Given the description of an element on the screen output the (x, y) to click on. 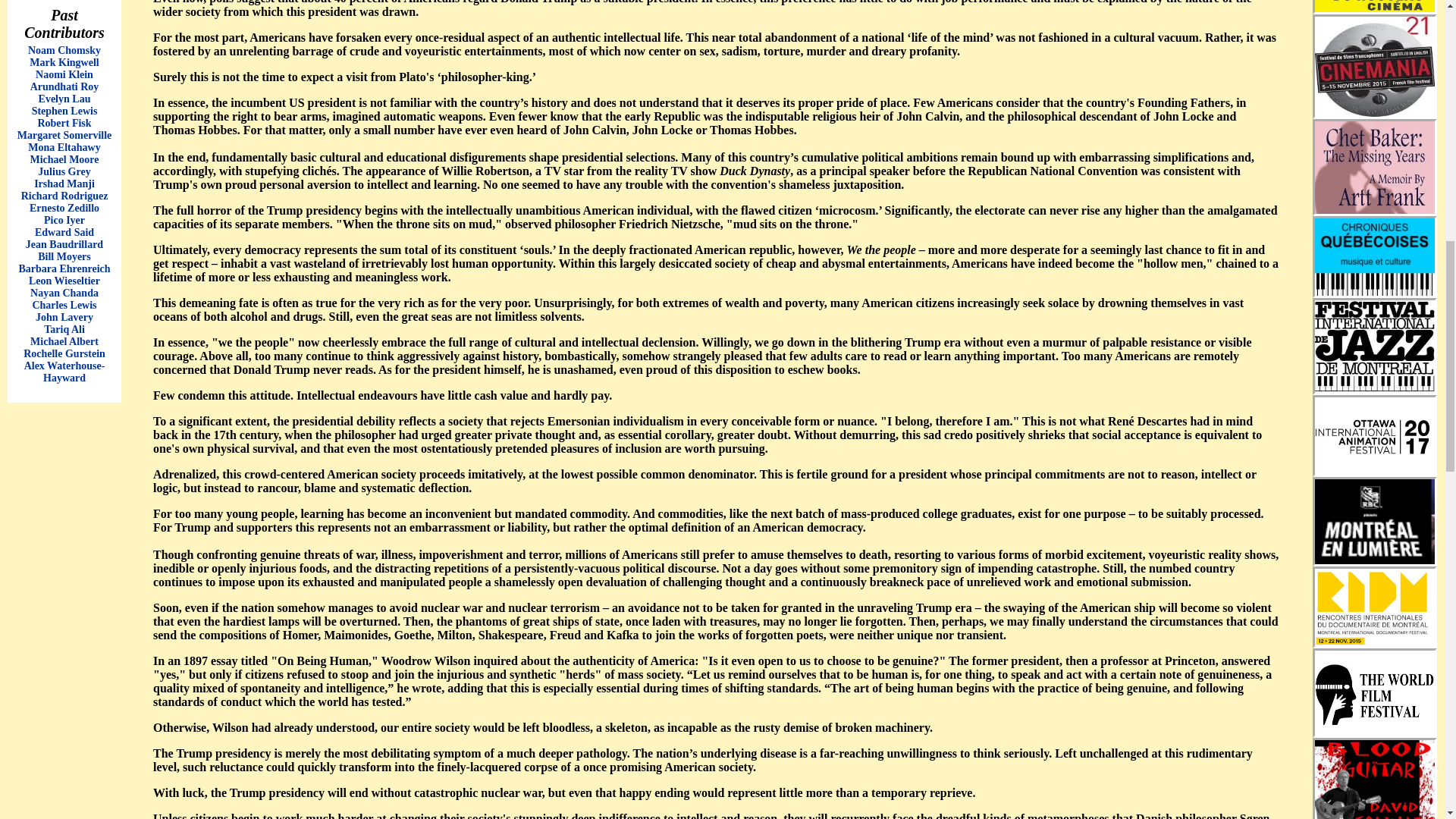
David Solway's Blood Guitar CD (1374, 779)
2017 Ottawa International Film Animation Festival (1374, 436)
CHET BAKER: THE MISSING YEARS - A MEMOIR by Artt Frank (1374, 167)
2016 Festival Montreal en Lumiere (1374, 521)
Montreal Jazz Festival (1374, 346)
